Given the description of an element on the screen output the (x, y) to click on. 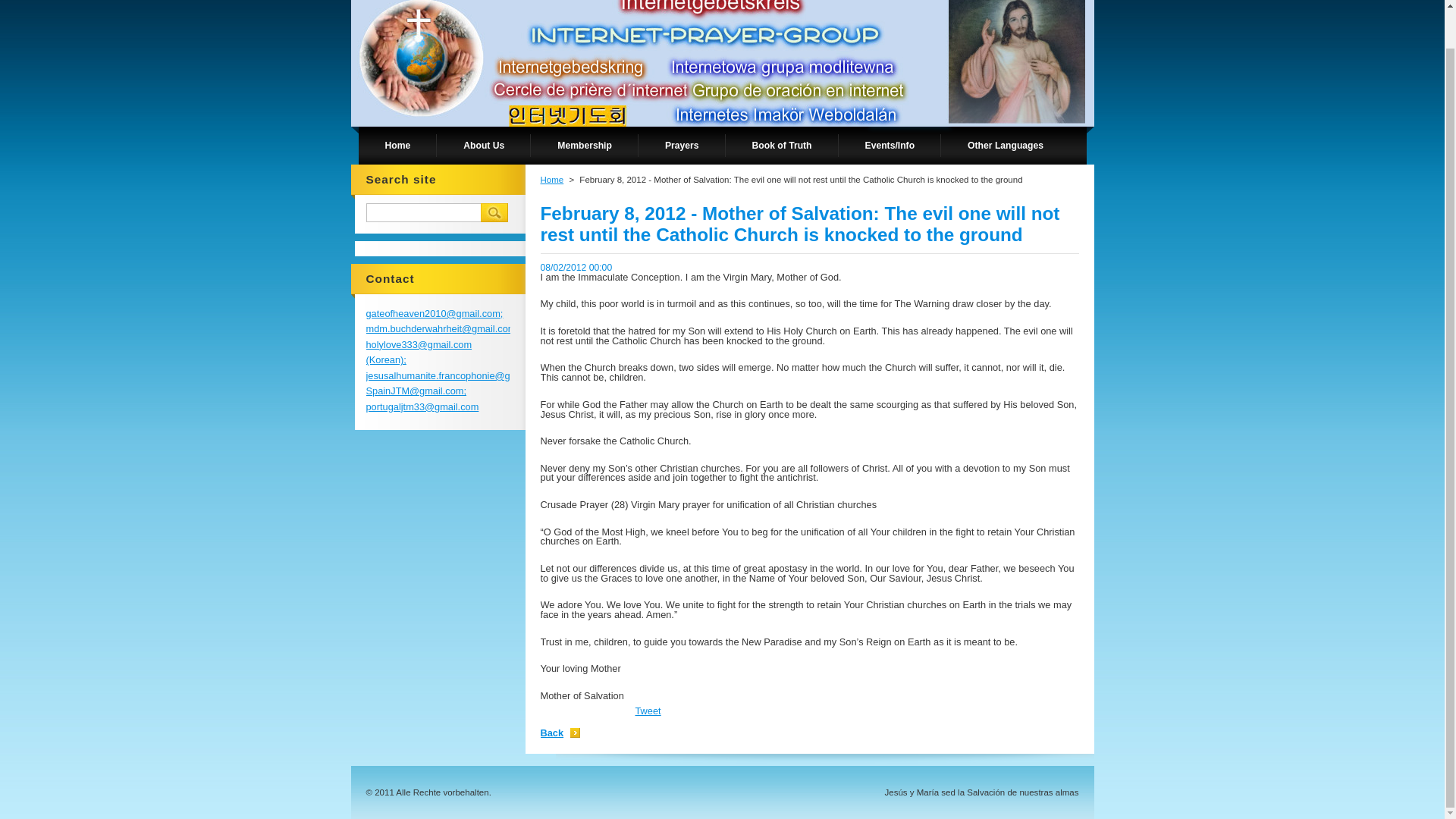
Search (494, 212)
Prayers (682, 145)
About Us (483, 145)
Book of Truth (781, 145)
Go to Homepage. (511, 26)
Membership (585, 145)
Home (397, 145)
